Given the description of an element on the screen output the (x, y) to click on. 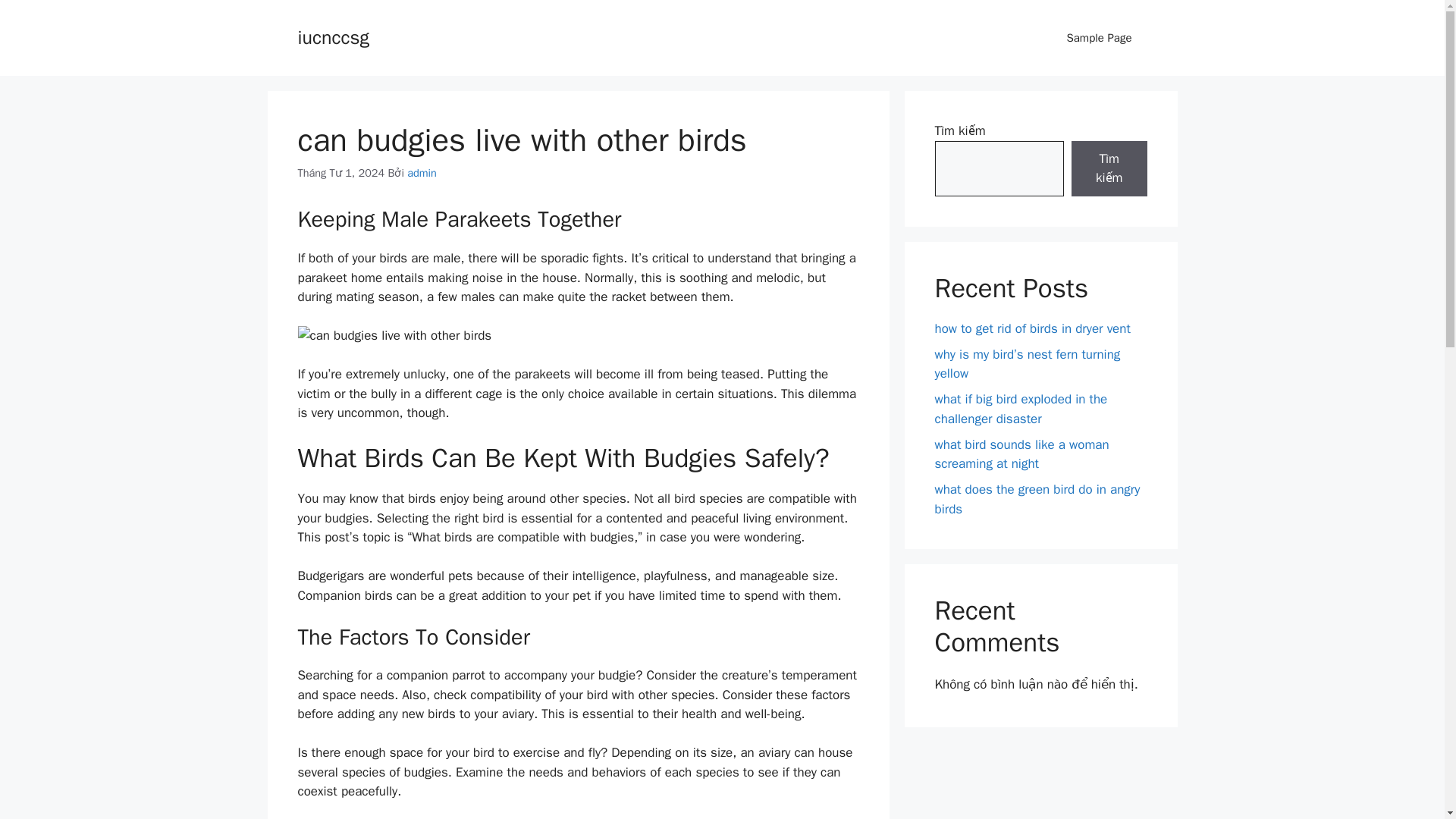
how to get rid of birds in dryer vent (1031, 327)
what if big bird exploded in the challenger disaster (1020, 408)
admin (421, 172)
iucnccsg (332, 37)
Sample Page (1099, 37)
what does the green bird do in angry birds (1037, 498)
what bird sounds like a woman screaming at night (1021, 454)
